Given the description of an element on the screen output the (x, y) to click on. 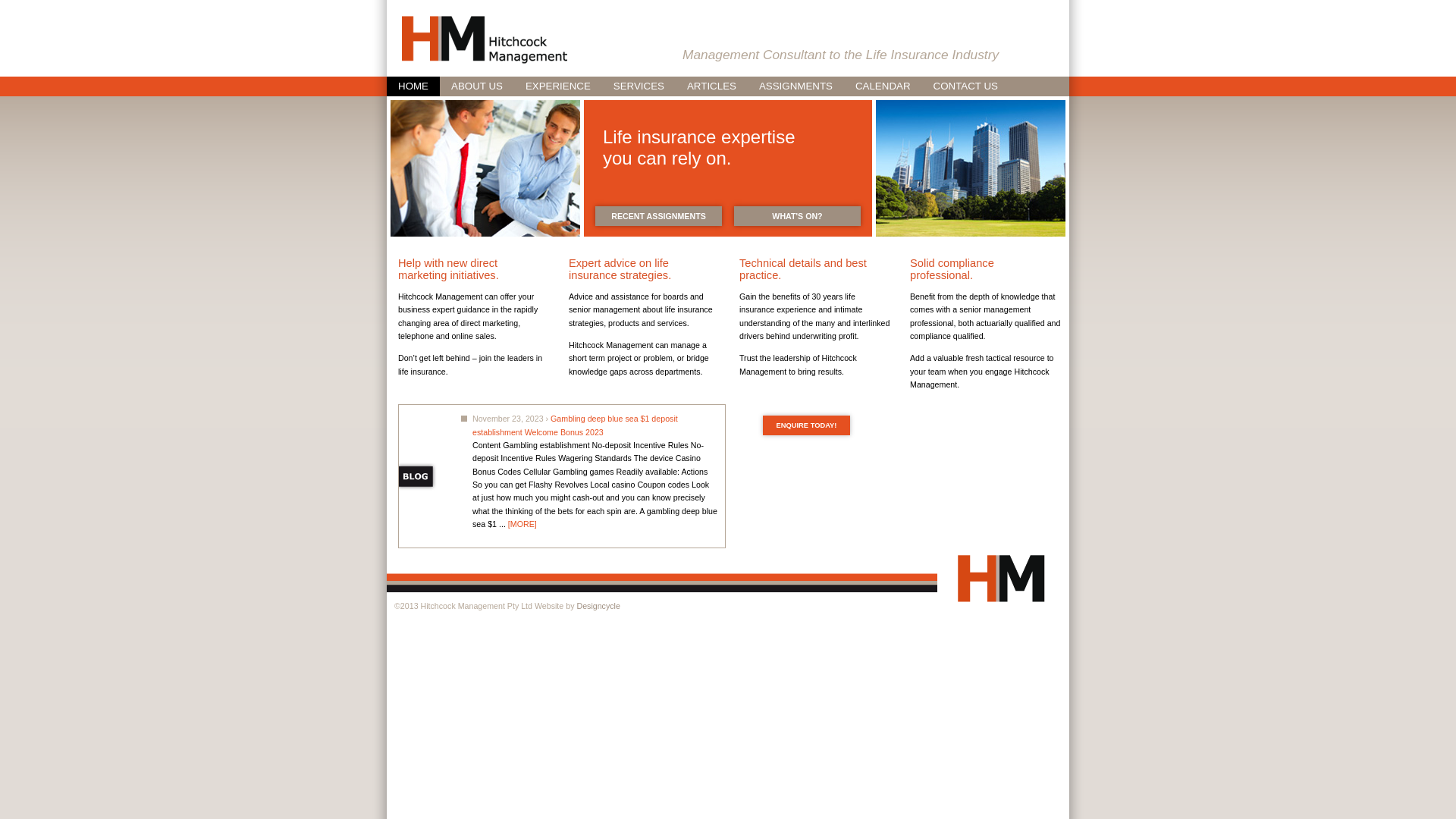
casino 10 euro gratis Element type: text (442, 408)
EXPERIENCE Element type: text (558, 86)
free spins on registration no deposit uk Element type: text (490, 406)
ASSIGNMENTS Element type: text (795, 86)
CONTACT US Element type: text (965, 86)
Designcycle Element type: text (597, 605)
RECENT ASSIGNMENTS Element type: text (658, 215)
CALENDAR Element type: text (883, 86)
ARTICLES Element type: text (711, 86)
HOME Element type: text (412, 86)
Allspinswin Casino Element type: text (436, 409)
WHAT'S ON? Element type: text (797, 215)
ENQUIRE TODAY! Element type: text (806, 425)
[MORE] Element type: text (522, 523)
SERVICES Element type: text (638, 86)
ABOUT US Element type: text (476, 86)
